Given the description of an element on the screen output the (x, y) to click on. 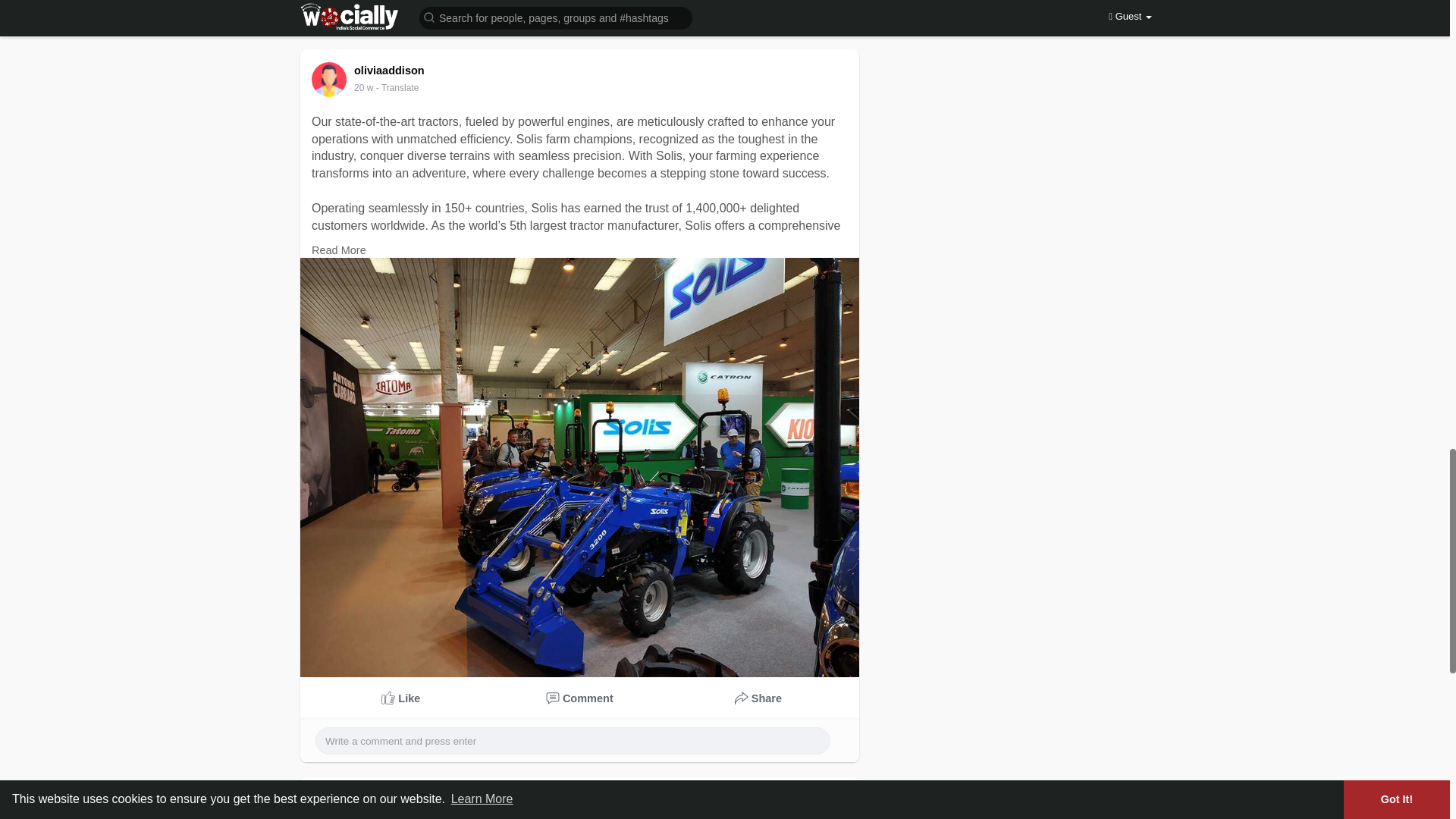
oliviaaddison (391, 70)
Translate (397, 814)
Share (757, 698)
20 w (362, 87)
20 w (362, 87)
20 w (362, 814)
oliviaaddison (391, 798)
Read More (338, 250)
20 w (362, 814)
Comments (579, 698)
Translate (397, 87)
